Given the description of an element on the screen output the (x, y) to click on. 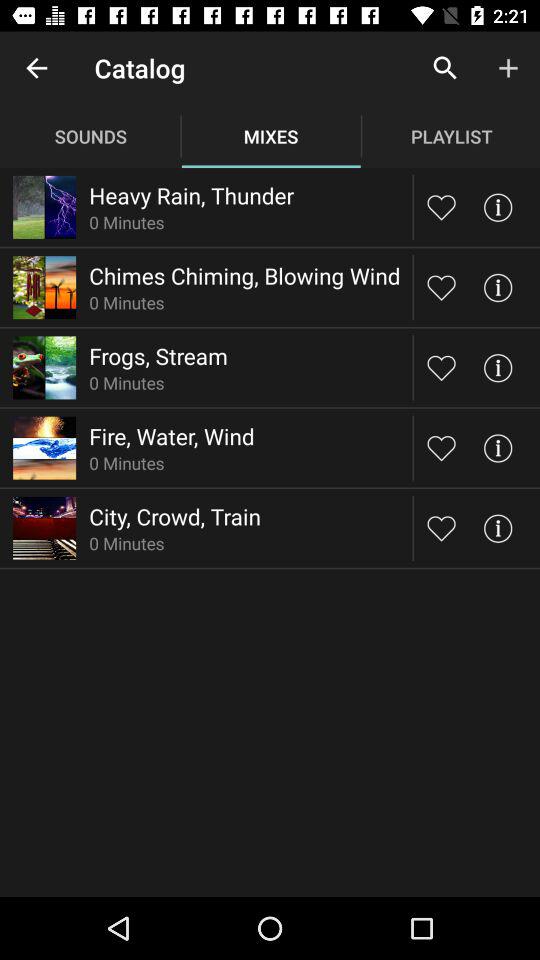
save this mix (441, 206)
